Given the description of an element on the screen output the (x, y) to click on. 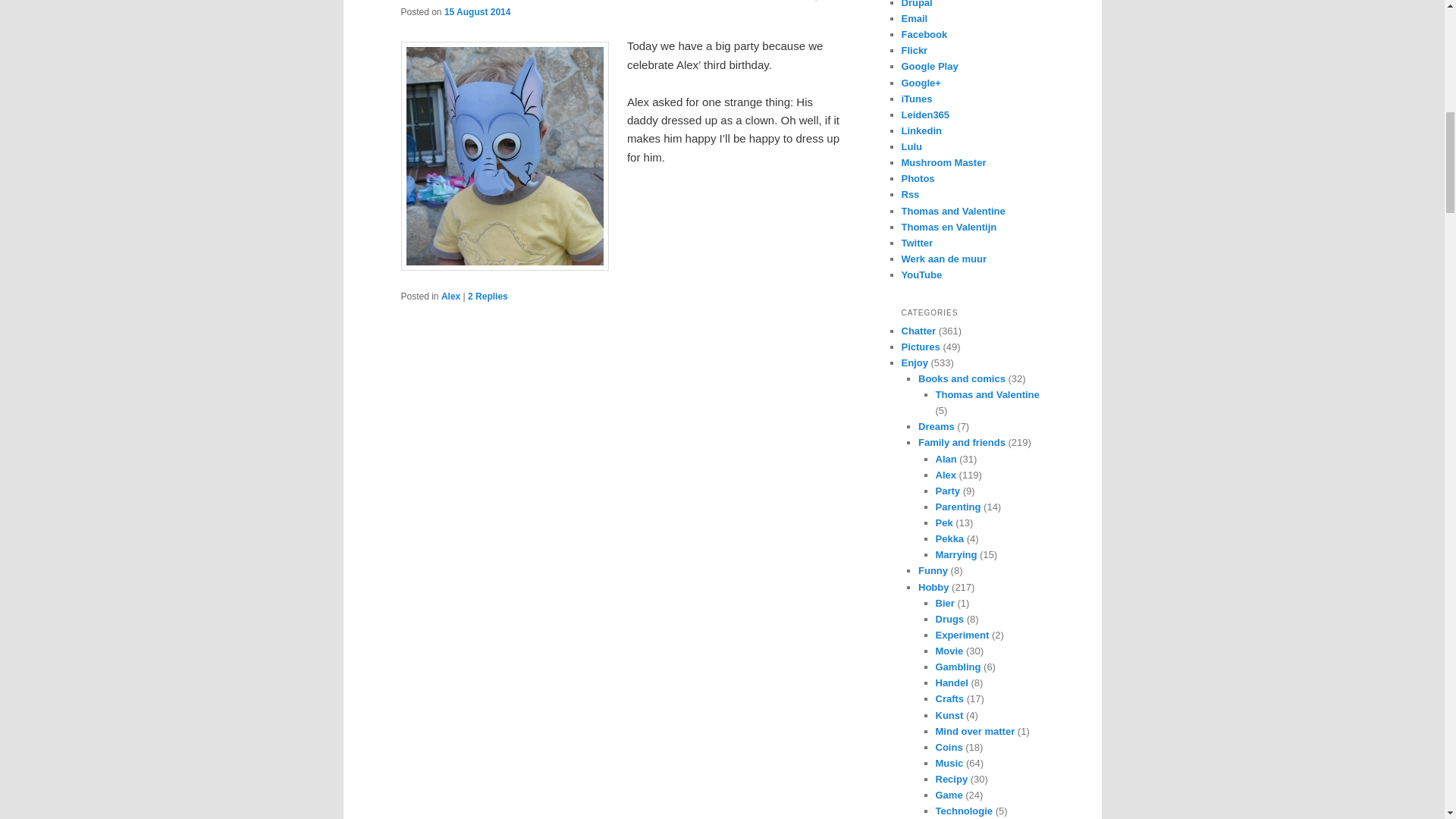
Fotoalbum (917, 178)
Alex (450, 296)
15:02 (477, 11)
15 August 2014 (477, 11)
2 Replies (487, 296)
